Given the description of an element on the screen output the (x, y) to click on. 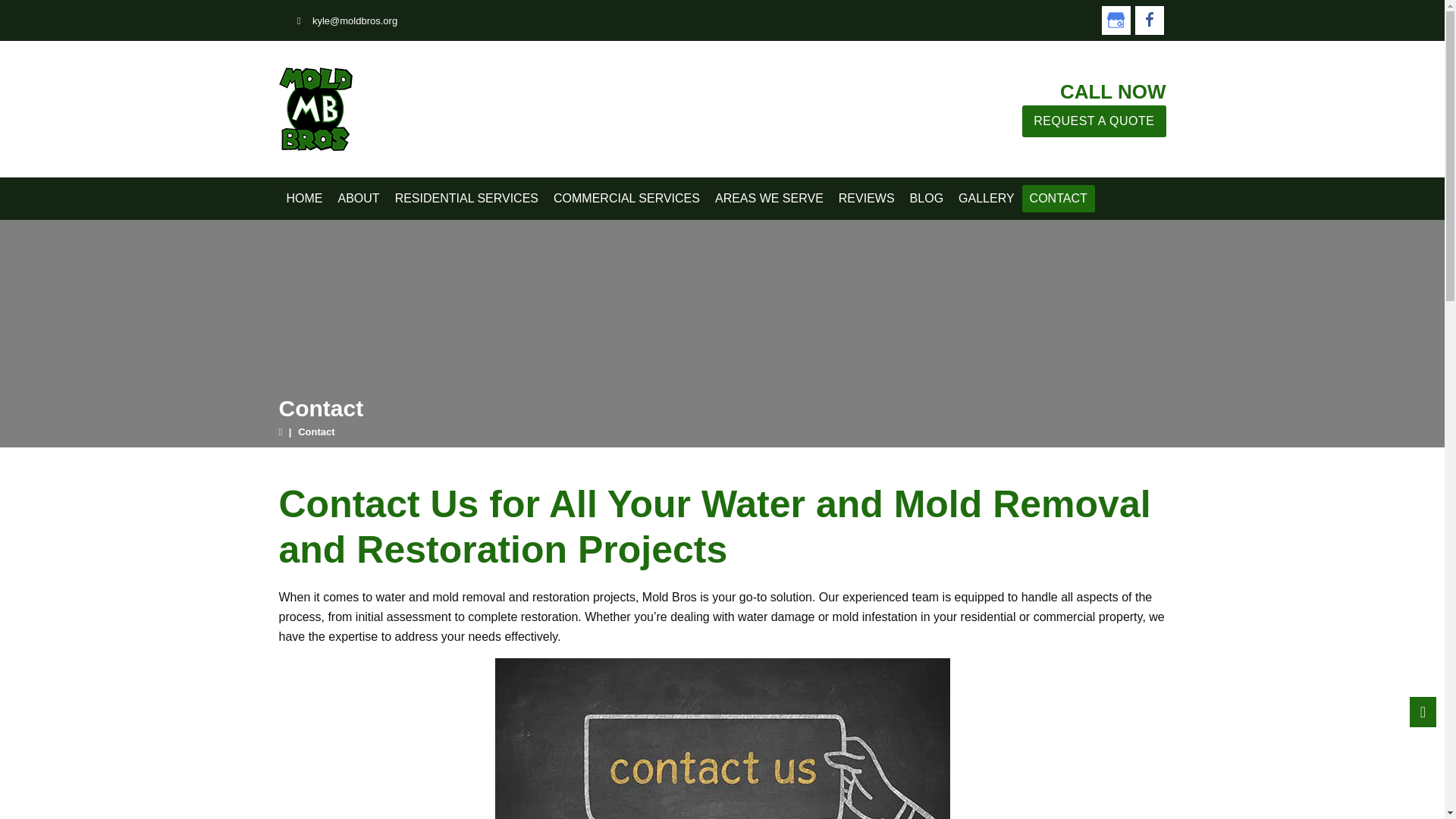
Facebook (1148, 20)
Google Business Profile (1114, 20)
CALL NOW (1112, 91)
COMMERCIAL SERVICES (626, 198)
REQUEST A QUOTE (1094, 121)
HOME (304, 198)
ABOUT (358, 198)
RESIDENTIAL SERVICES (466, 198)
